Given the description of an element on the screen output the (x, y) to click on. 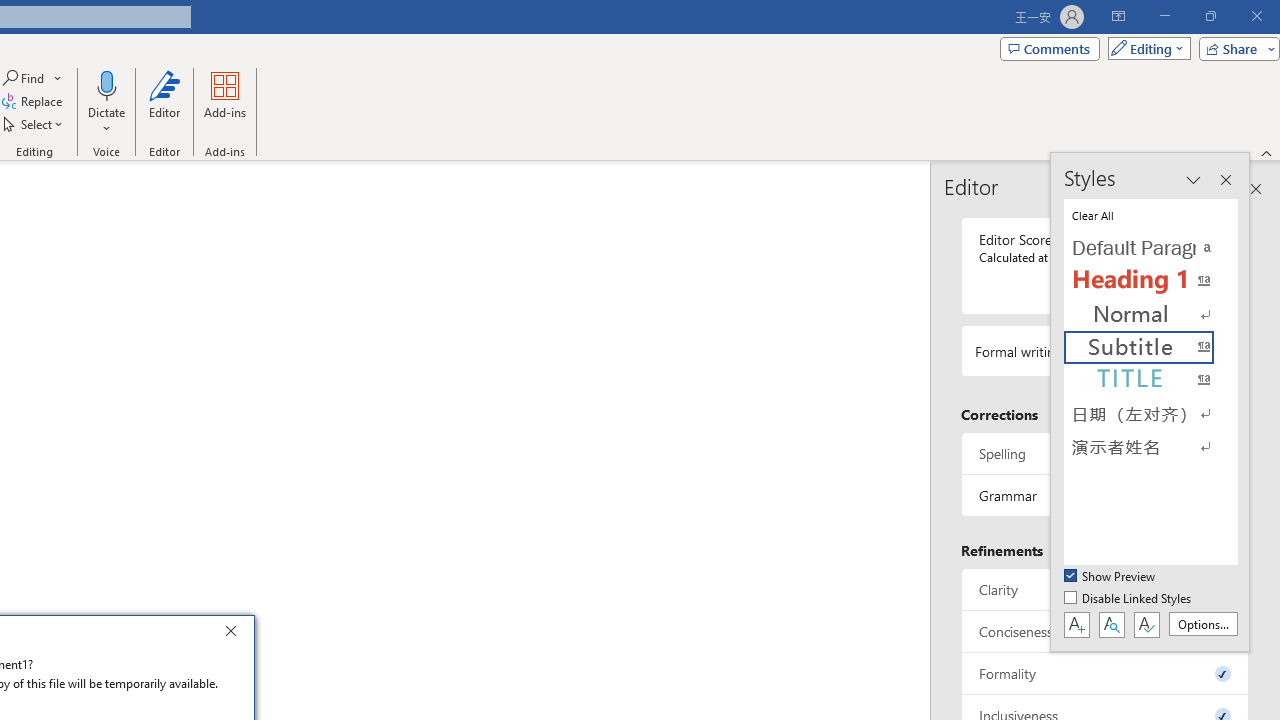
Normal (1150, 314)
Conciseness, 0 issues. Press space or enter to review items. (1105, 631)
Class: NetUIButton (1146, 624)
Editing (1144, 47)
Formality, 0 issues. Press space or enter to review items. (1105, 673)
Show Preview (1110, 577)
